Given the description of an element on the screen output the (x, y) to click on. 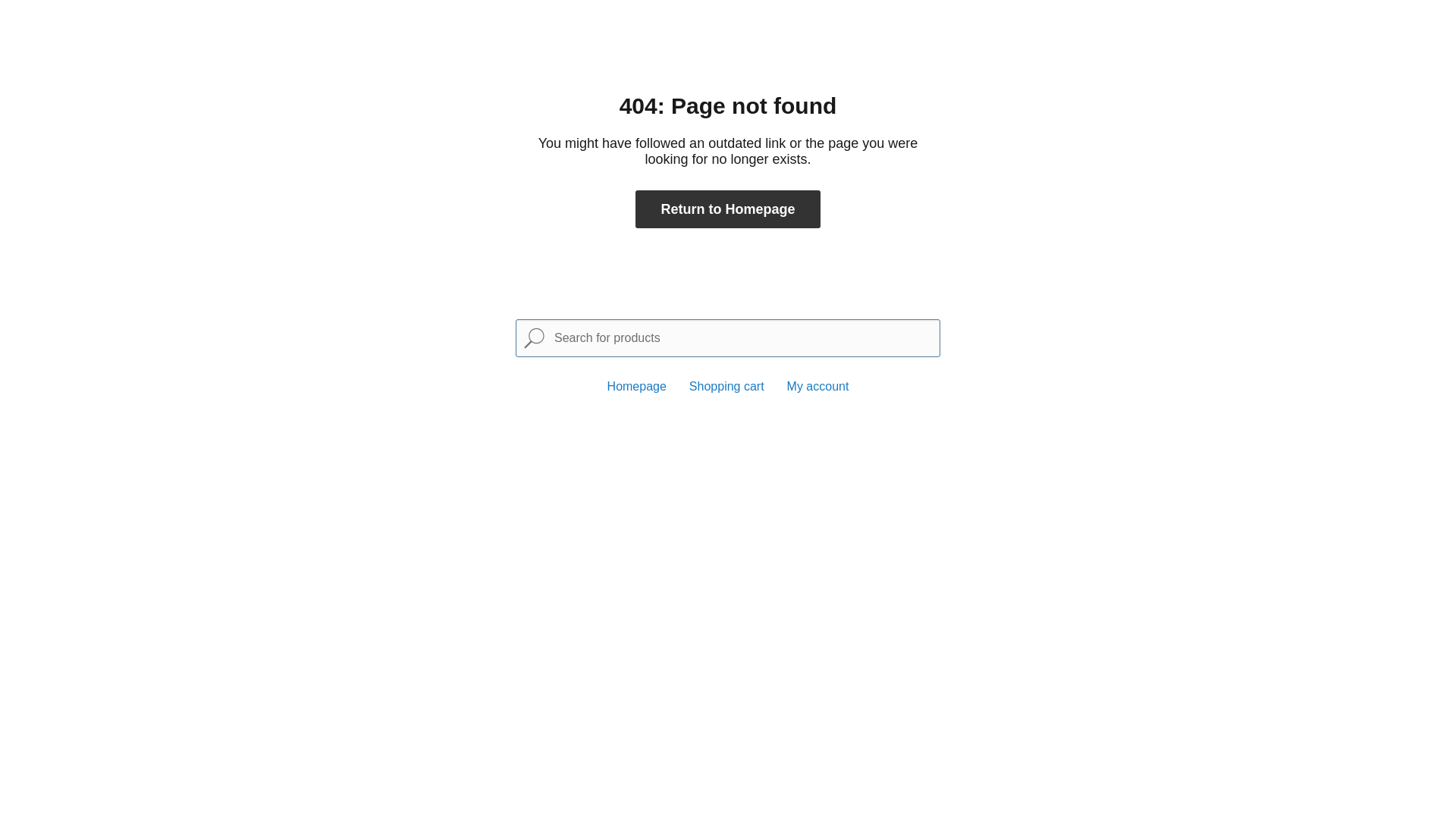
My account Element type: text (818, 386)
Shopping cart Element type: text (726, 386)
Homepage Element type: text (636, 386)
Return to Homepage Element type: text (727, 209)
